Given the description of an element on the screen output the (x, y) to click on. 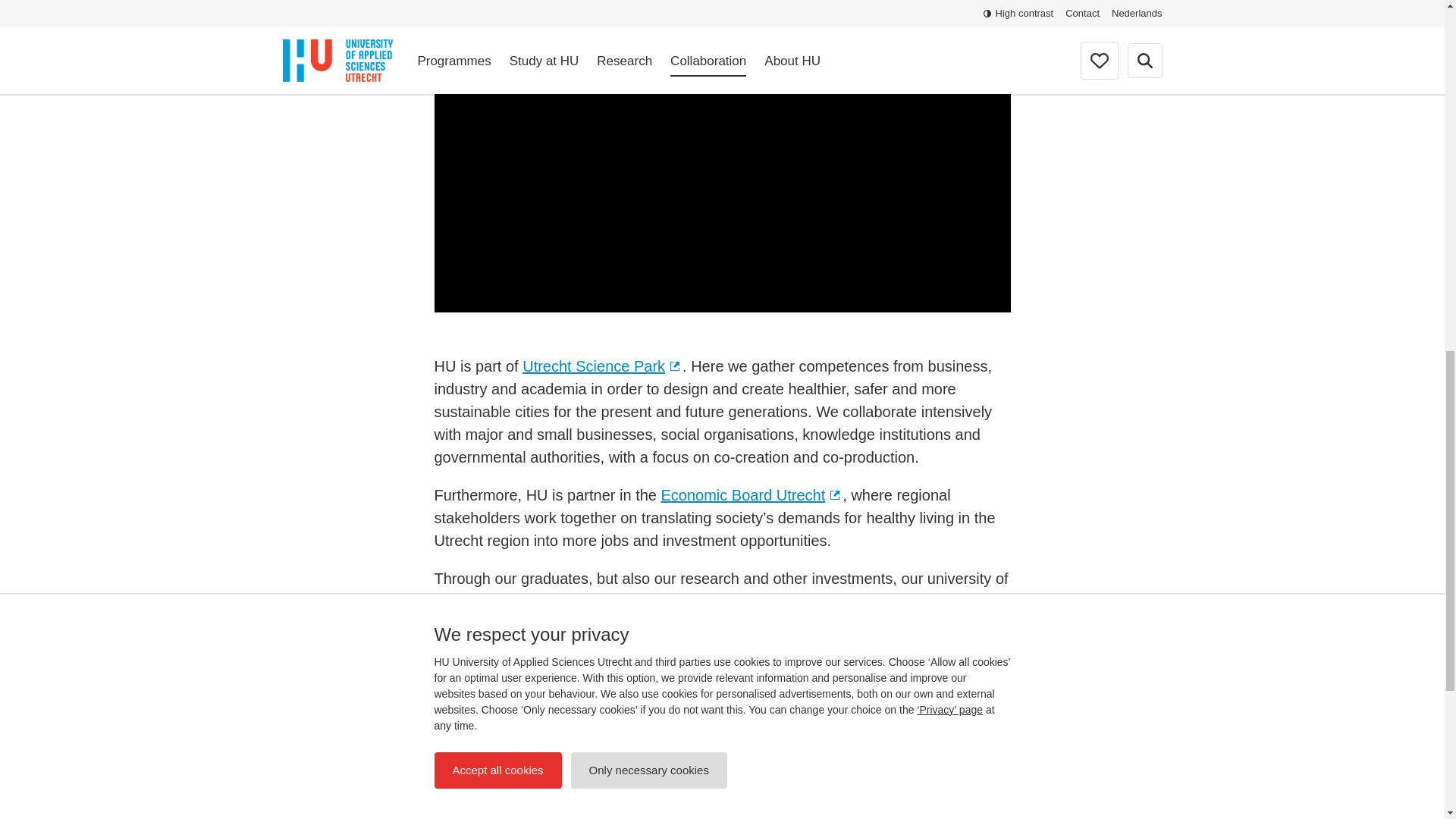
external link (675, 366)
external link (836, 495)
